Given the description of an element on the screen output the (x, y) to click on. 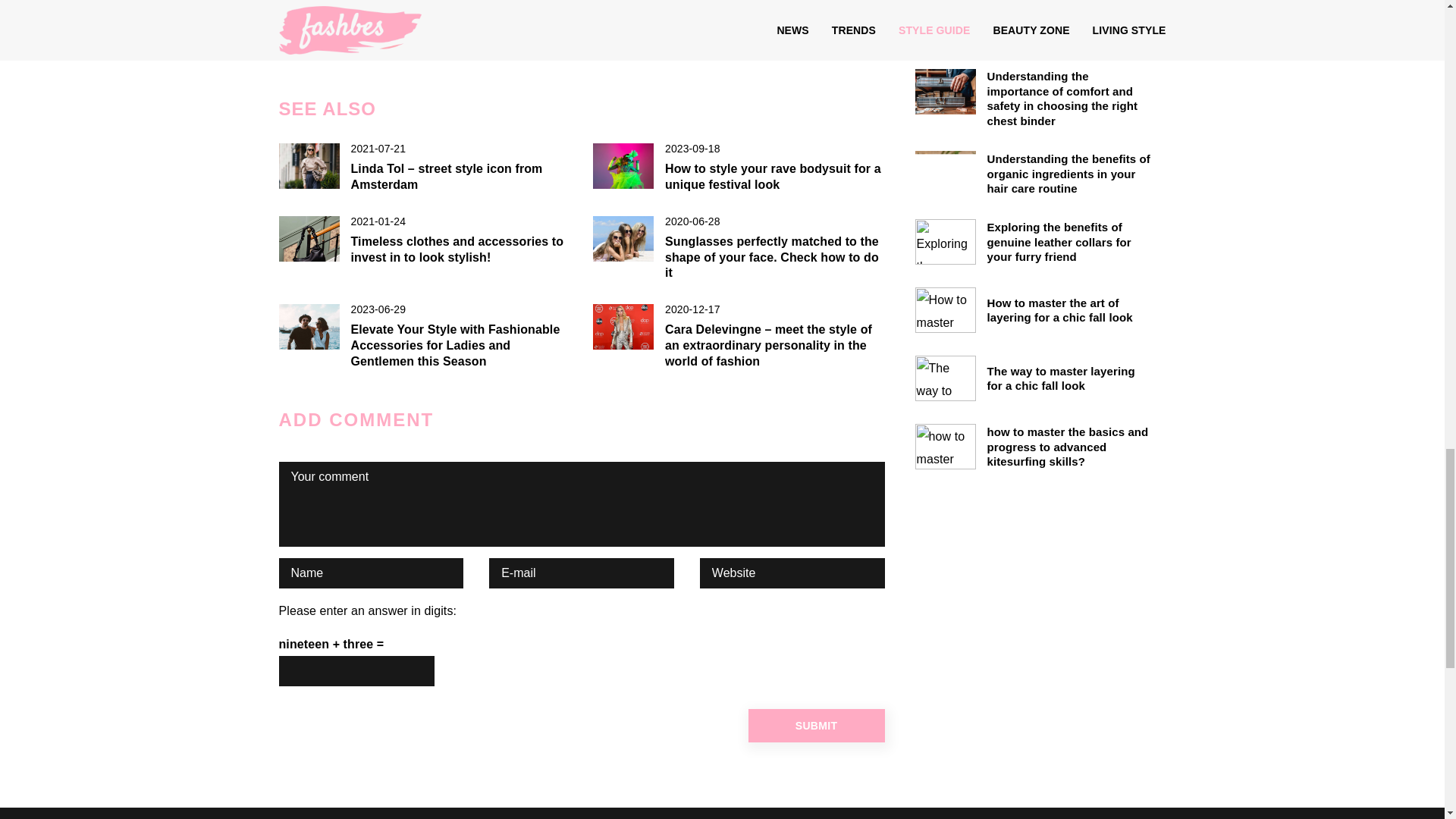
How to style your rave bodysuit for a unique festival look (775, 177)
Submit (815, 725)
Submit (815, 725)
